Given the description of an element on the screen output the (x, y) to click on. 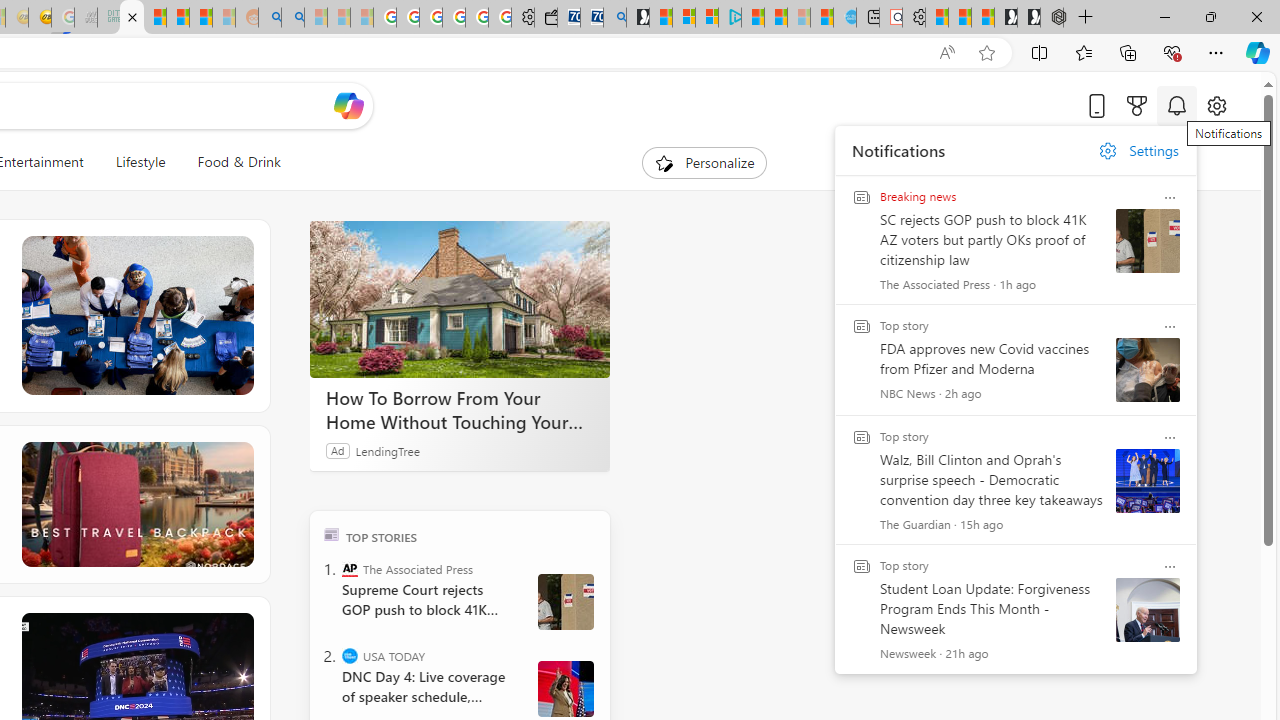
Play Free Online Games | Games from Microsoft Start (1028, 17)
Wallet (545, 17)
Student Loan Update: Forgiveness Program Ends This Month (200, 17)
Nordace - Nordace Siena Is Not An Ordinary Backpack (1051, 17)
The Associated Press (349, 568)
DITOGAMES AG Imprint - Sleeping (109, 17)
